Given the description of an element on the screen output the (x, y) to click on. 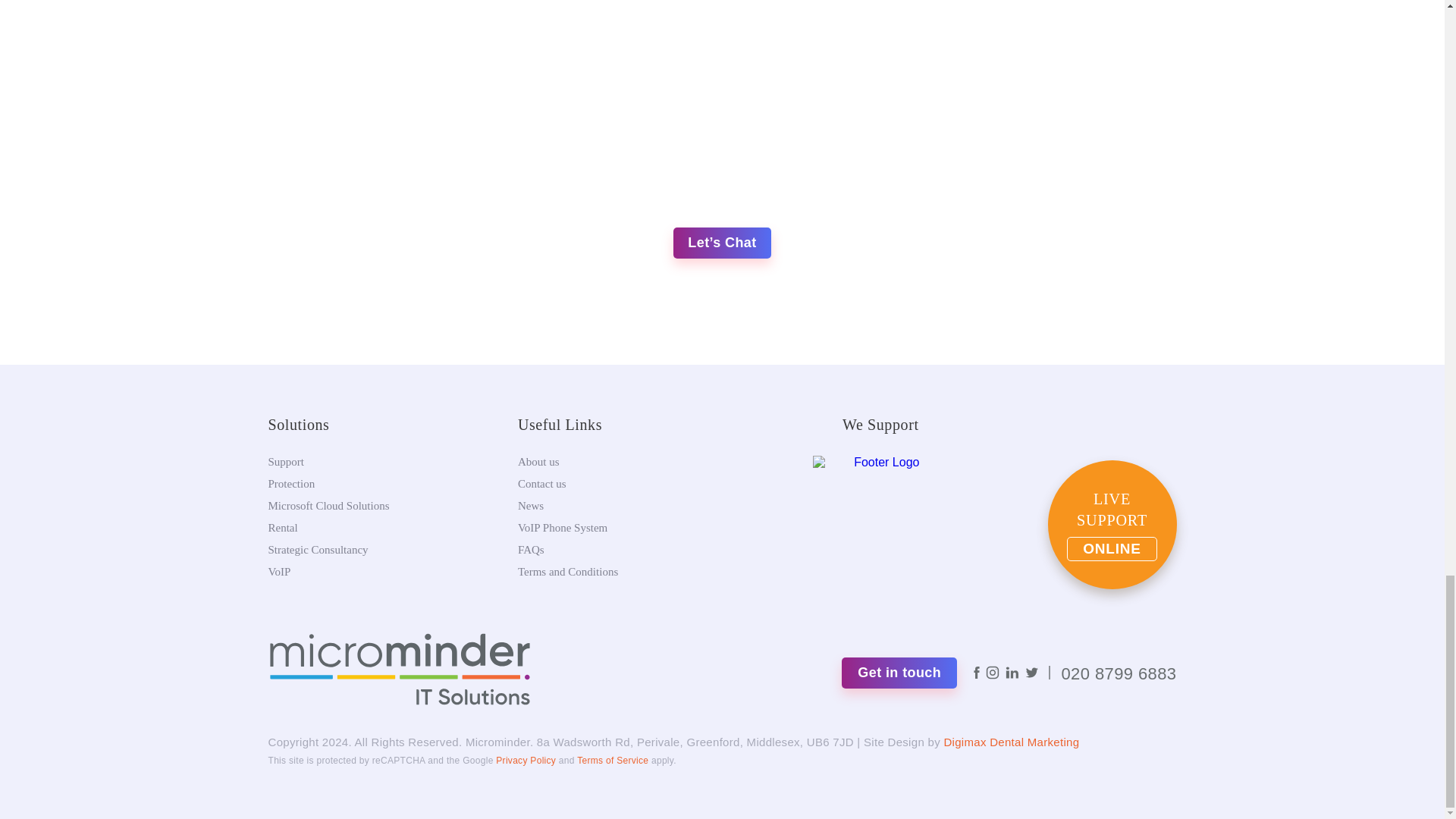
VoIP (279, 571)
Support (285, 461)
Rental (282, 527)
Protection (291, 483)
Strategic Consultancy (317, 549)
Microsoft Cloud Solutions (328, 505)
